Given the description of an element on the screen output the (x, y) to click on. 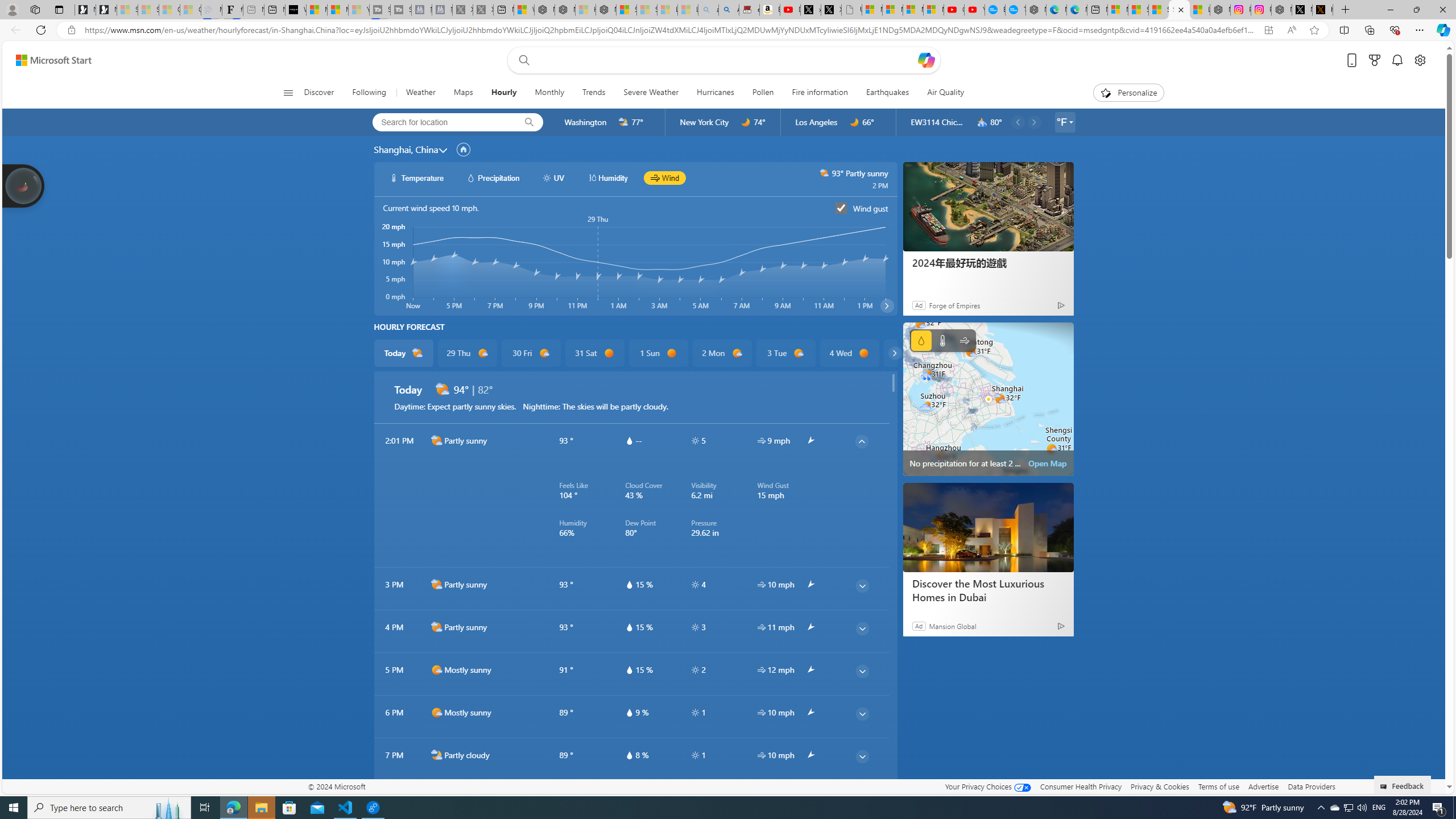
n2000 (436, 797)
4 Wed d0000 (849, 352)
Pollen (762, 92)
Mansion Global (952, 625)
hourlyChart/windBlack (655, 177)
Privacy & Cookies (1160, 786)
hourlyChart/humidityWhite (591, 177)
Microsoft rewards (1374, 60)
App available. Install Microsoft Start Weather (1268, 29)
2 Mon d1000 (721, 352)
